Given the description of an element on the screen output the (x, y) to click on. 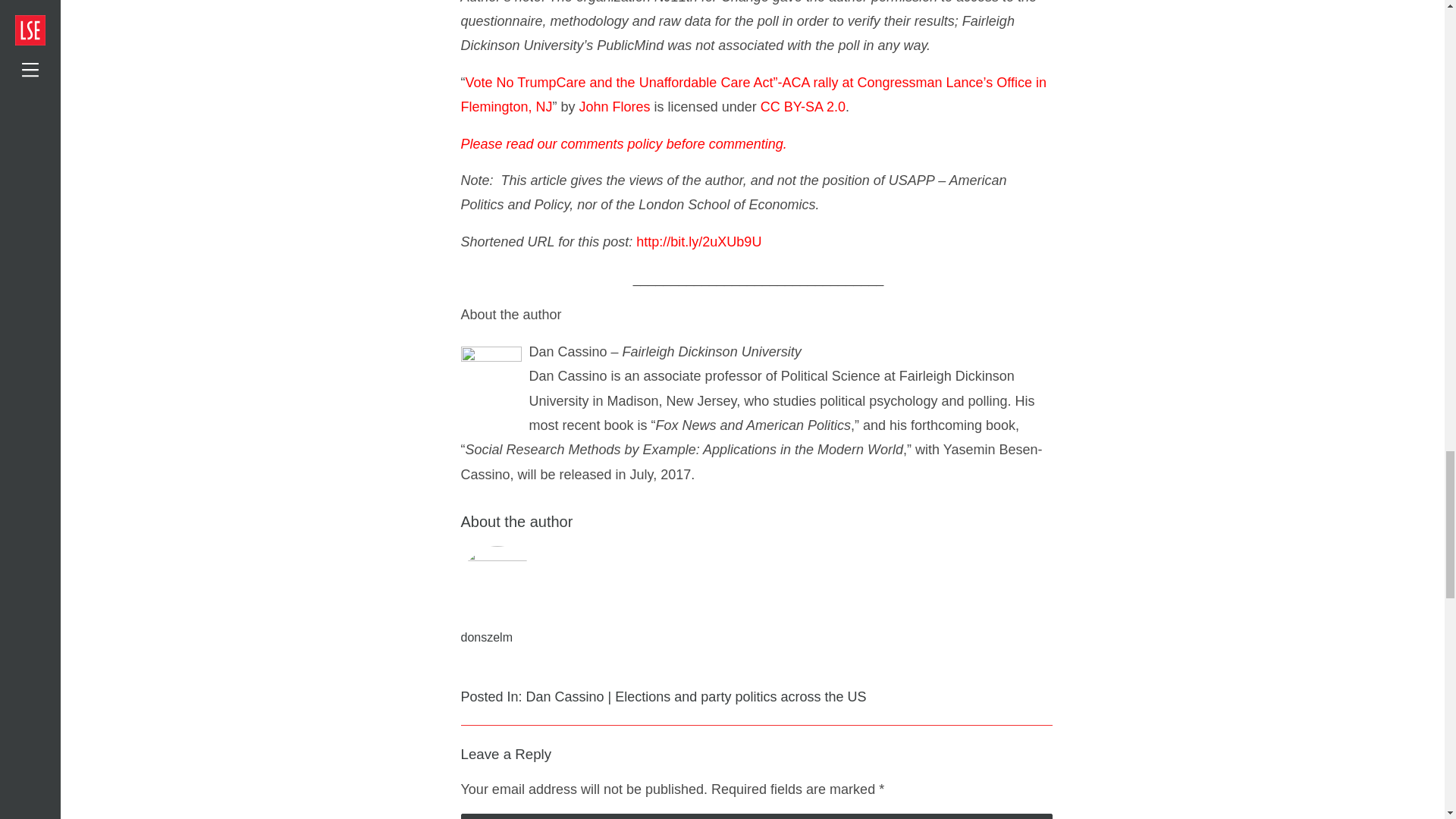
CC BY-SA 2.0 (802, 106)
John Flores (614, 106)
Please read our comments policy before commenting. (624, 143)
